Given the description of an element on the screen output the (x, y) to click on. 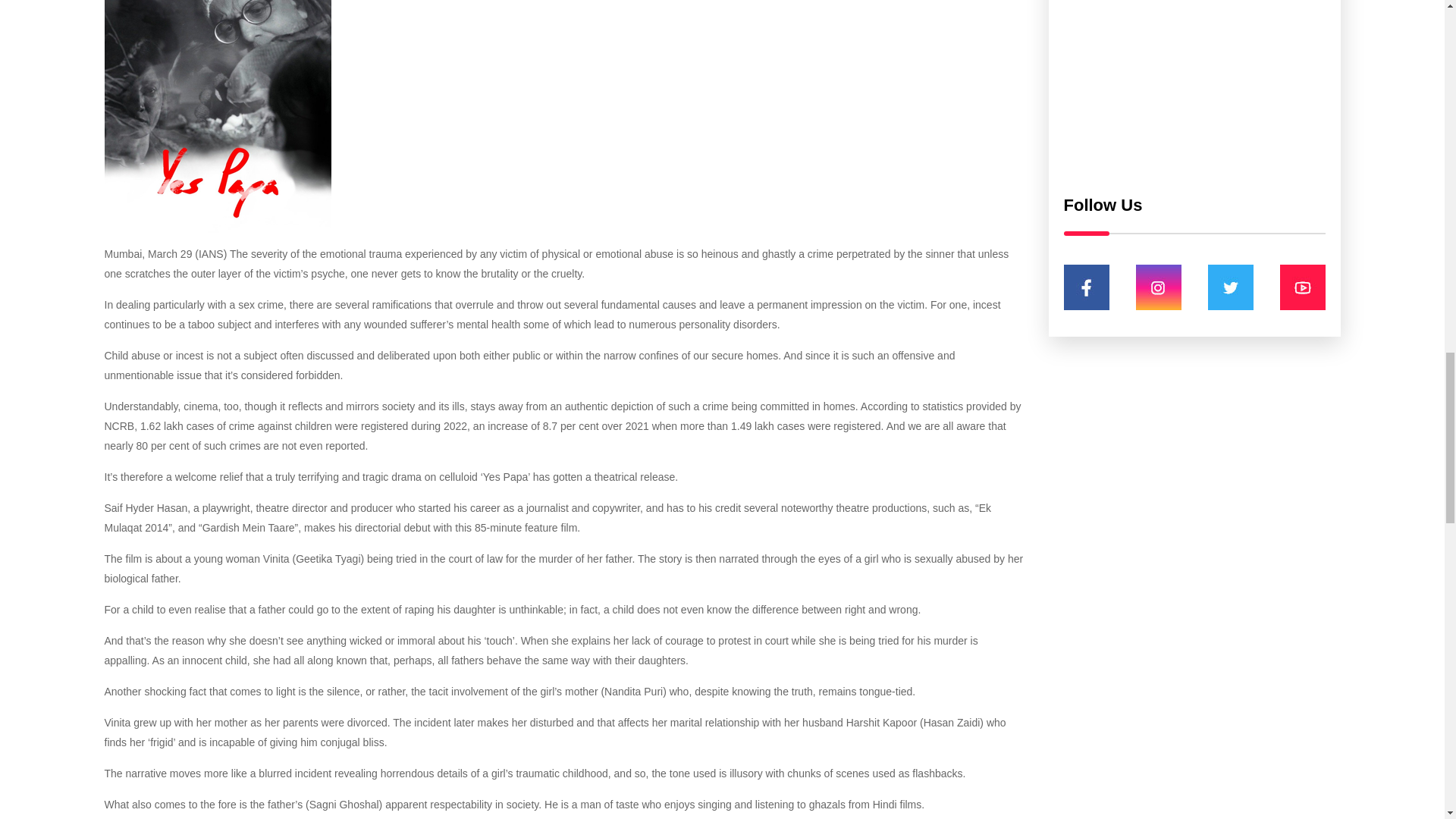
Lyra-Homes-Buyers-agency-902x1251 (1193, 90)
